Given the description of an element on the screen output the (x, y) to click on. 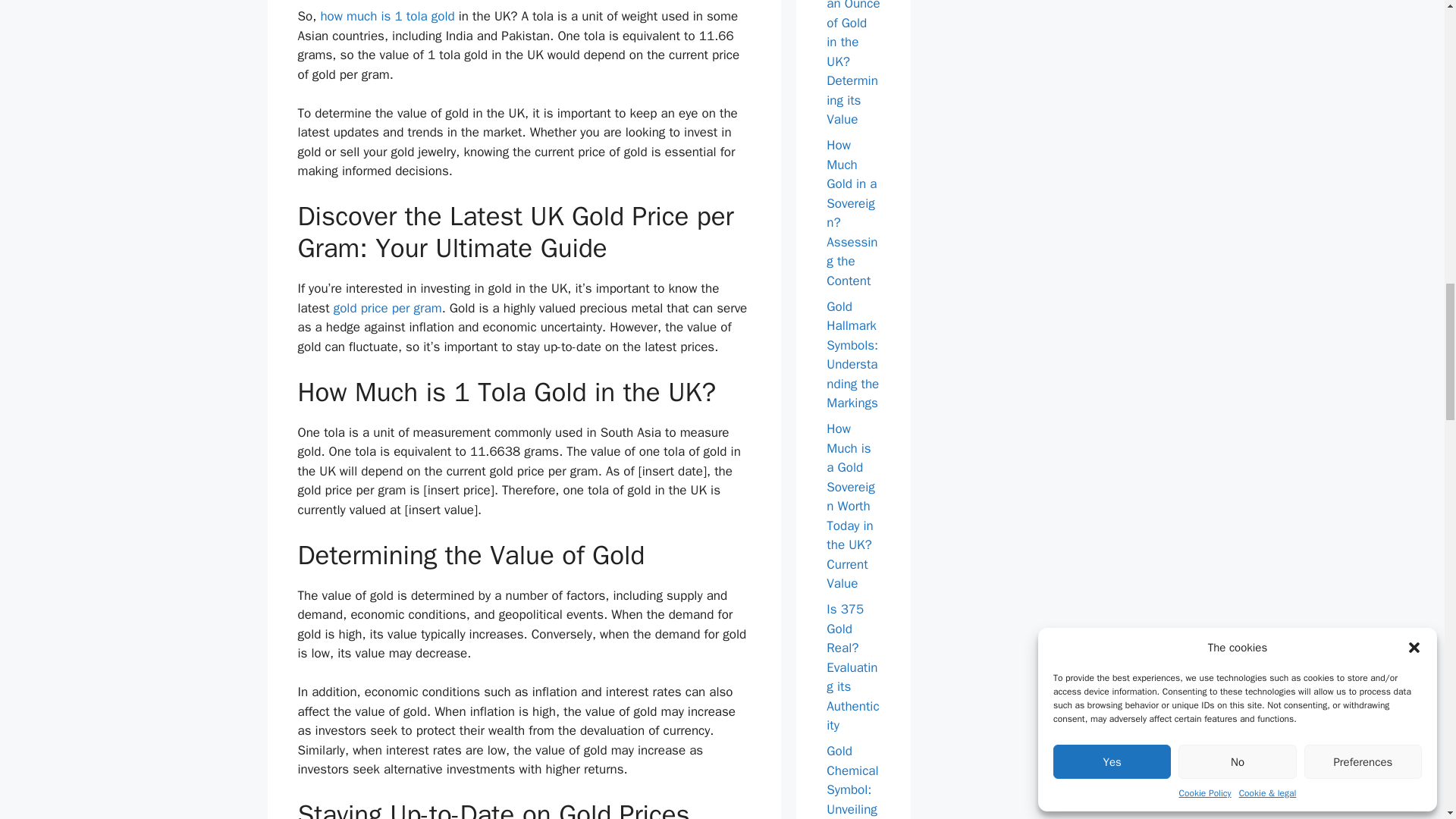
how much is 1 tola gold (387, 16)
gold price per gram (387, 308)
